Given the description of an element on the screen output the (x, y) to click on. 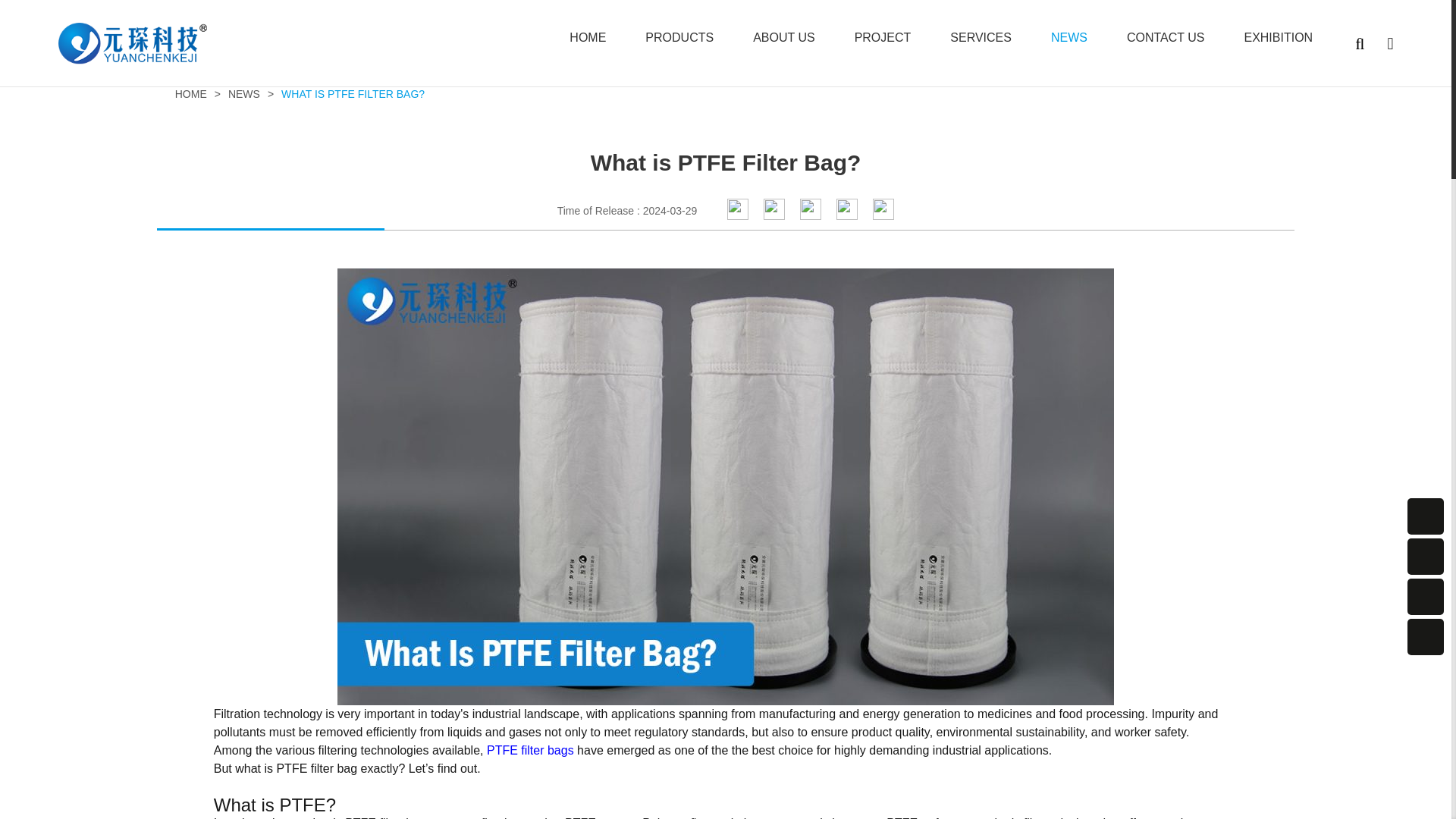
PRODUCTS (679, 38)
EXHIBITION (1278, 38)
CONTACT US (1165, 38)
